Given the description of an element on the screen output the (x, y) to click on. 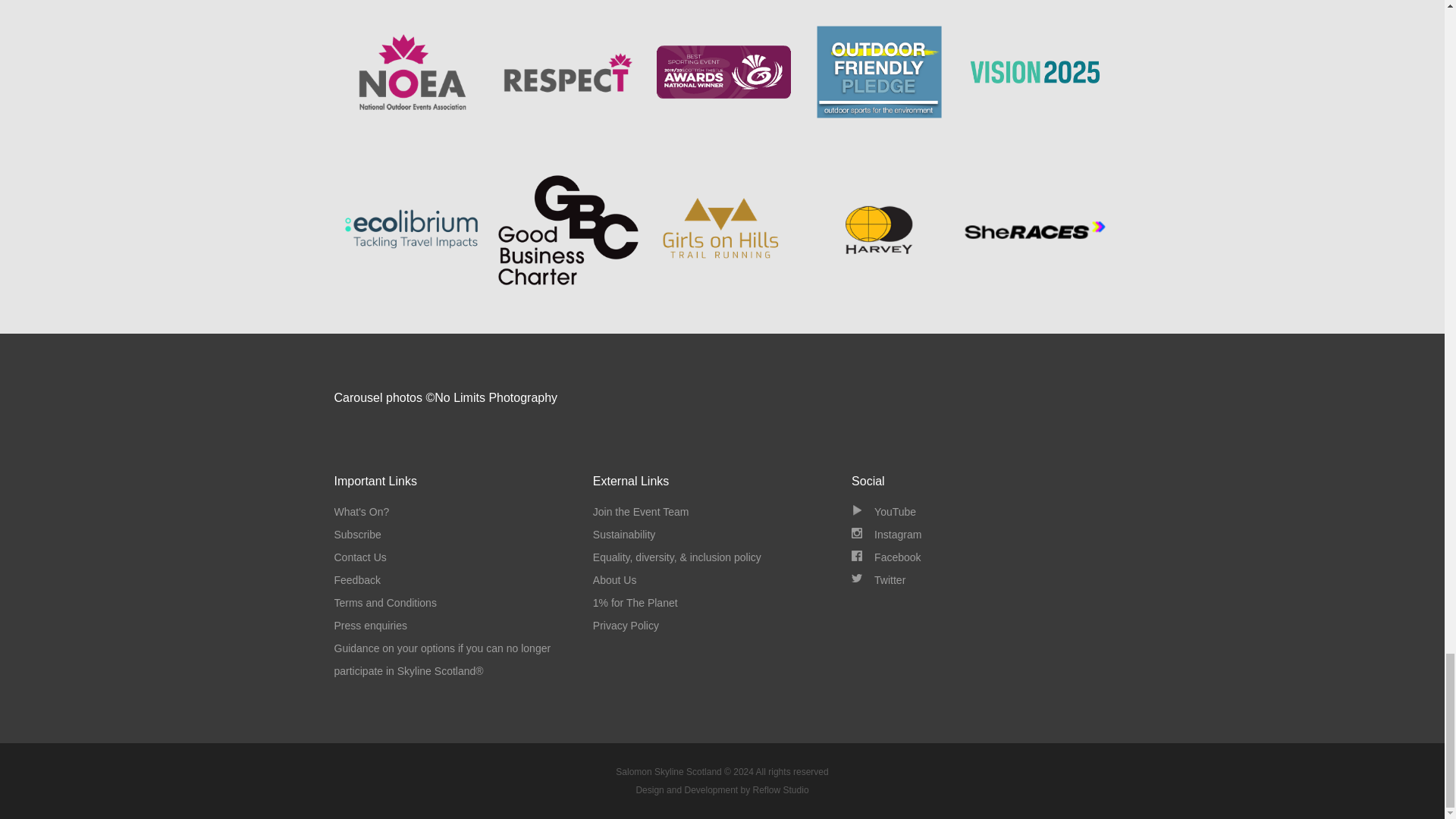
Reflow Studio (721, 789)
